Given the description of an element on the screen output the (x, y) to click on. 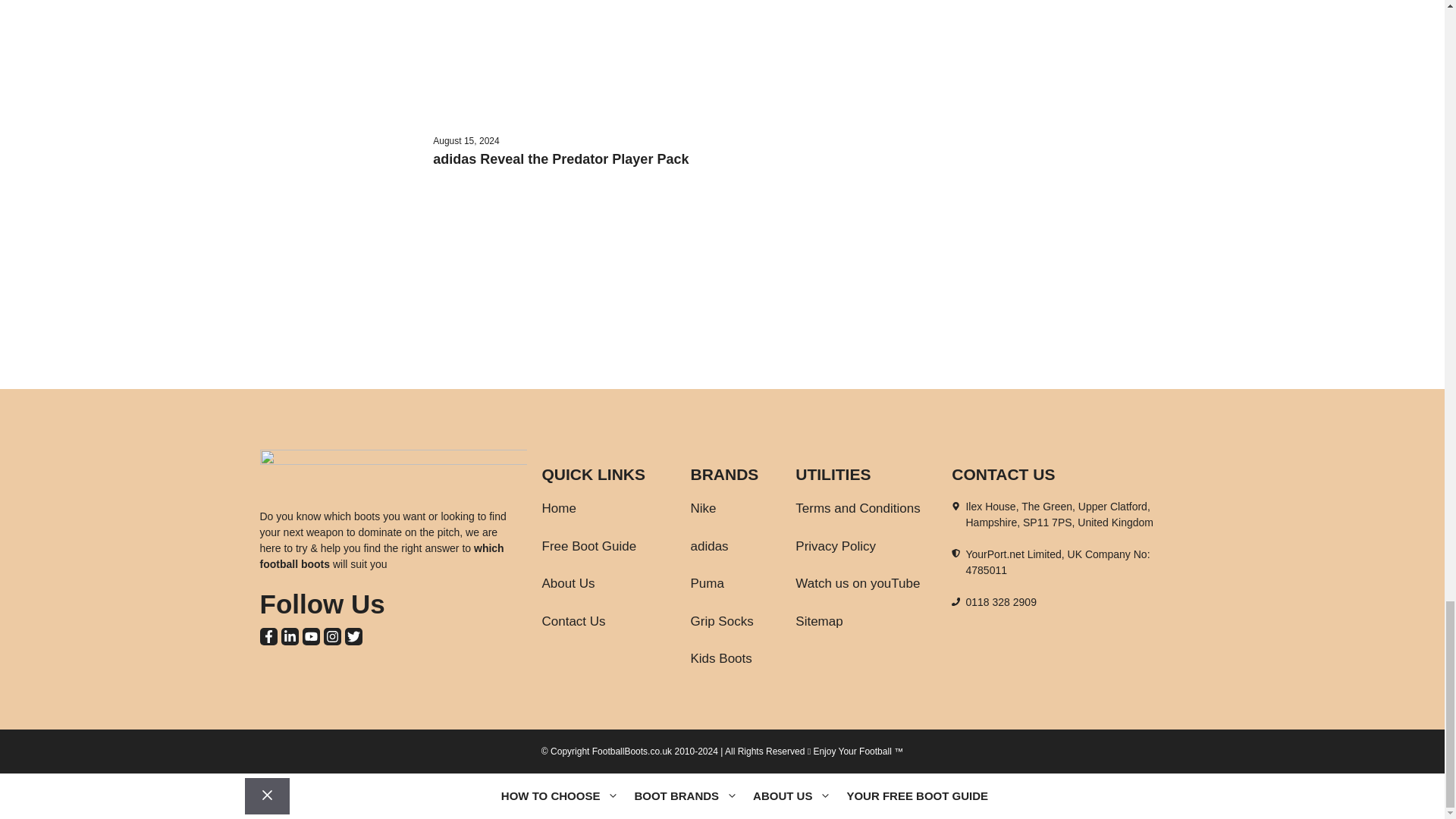
mainlogo-removedbg (392, 460)
adidas-copamig-2 (342, 9)
adidas-player-4 (342, 218)
